Given the description of an element on the screen output the (x, y) to click on. 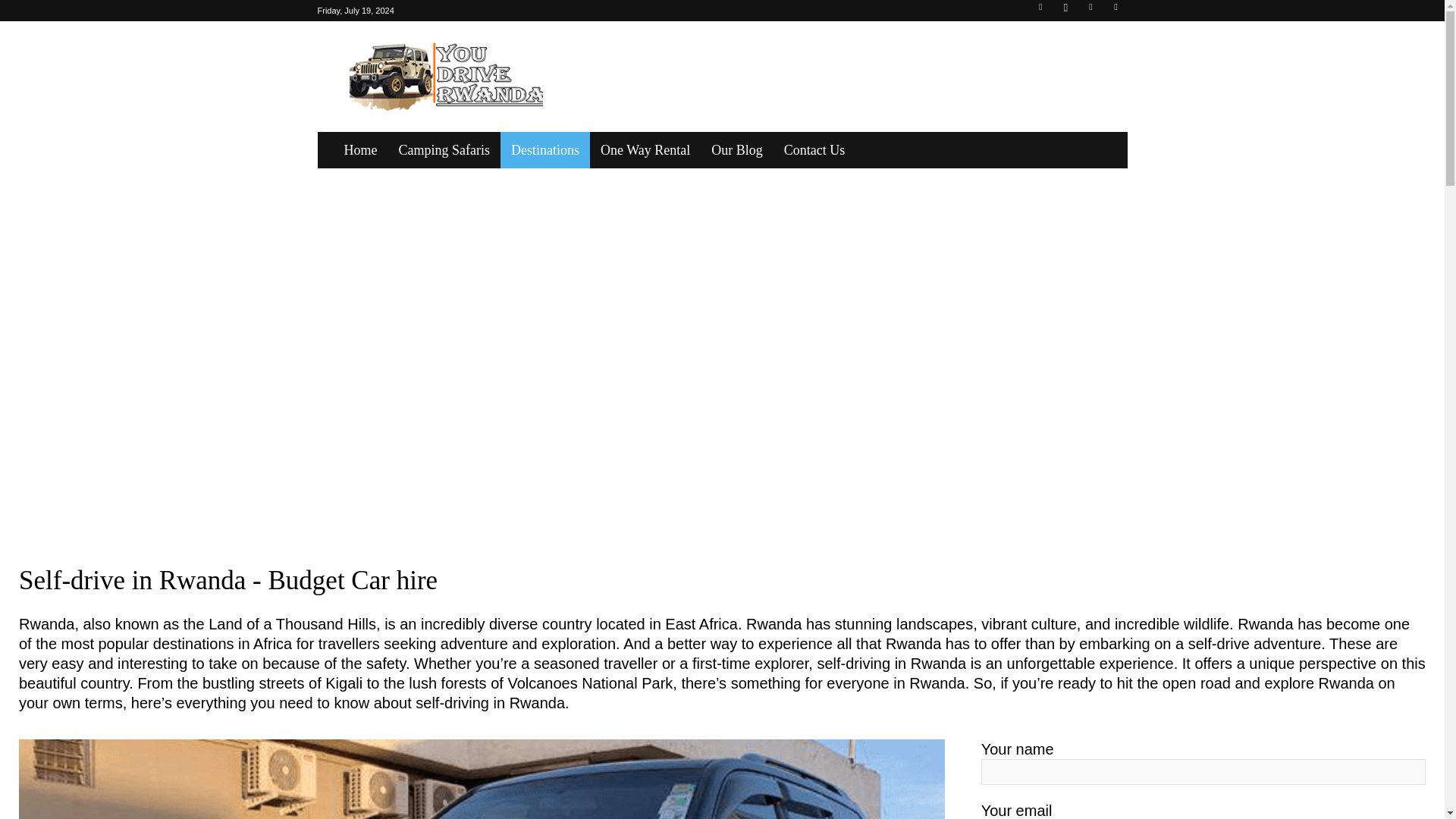
Facebook (1040, 11)
Instagram (1065, 11)
Home (360, 149)
Camping Safaris (444, 149)
Destinations (544, 149)
Twitter (1114, 11)
Linkedin (1090, 11)
